Given the description of an element on the screen output the (x, y) to click on. 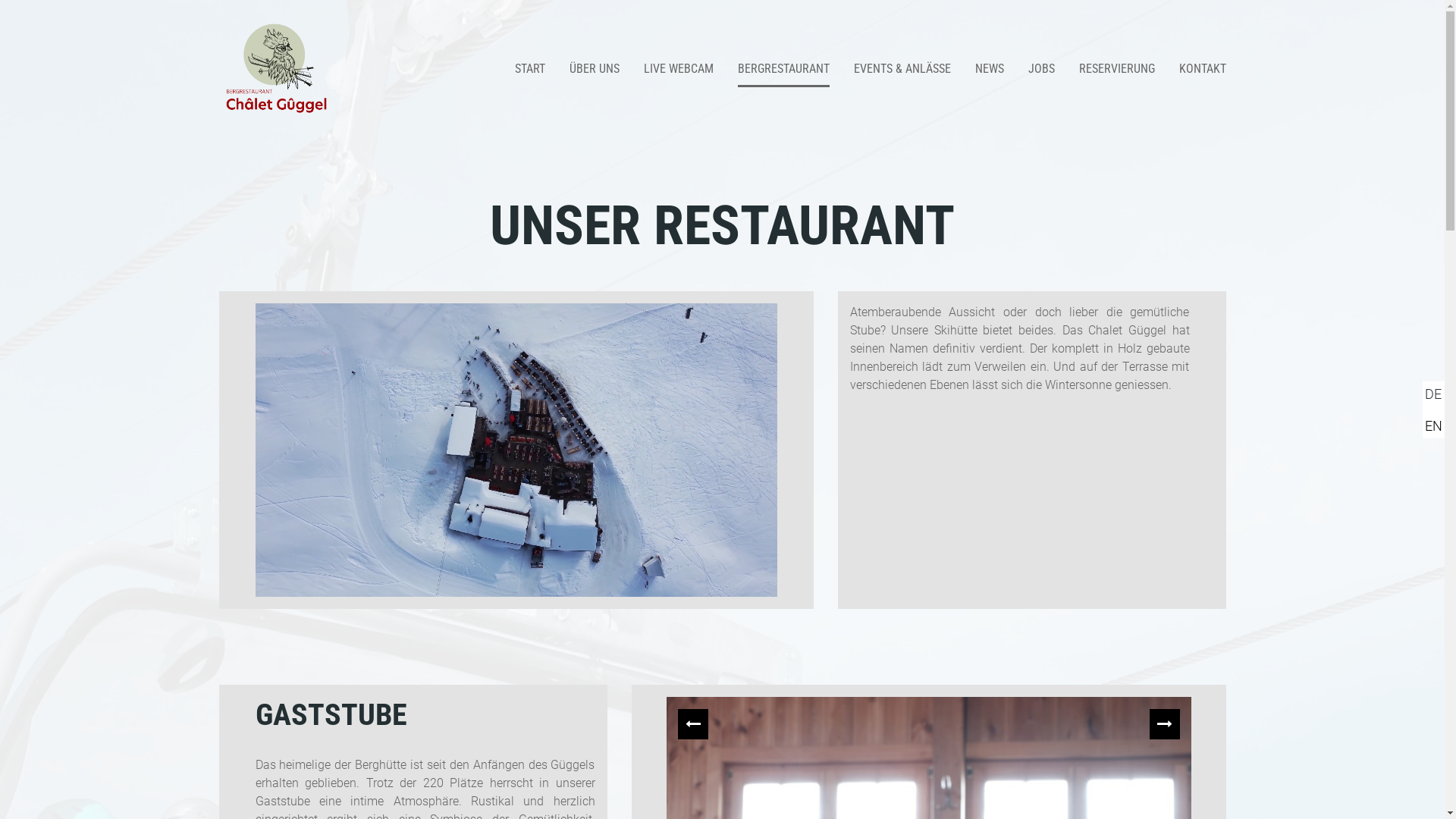
Deutsch Element type: hover (1433, 393)
START Element type: text (529, 68)
RESERVIERUNG Element type: text (1116, 68)
English Element type: hover (1433, 424)
JOBS Element type: text (1041, 68)
KONTAKT Element type: text (1201, 68)
BERGRESTAURANT Element type: text (782, 68)
NEWS Element type: text (989, 68)
LIVE WEBCAM Element type: text (677, 68)
